Given the description of an element on the screen output the (x, y) to click on. 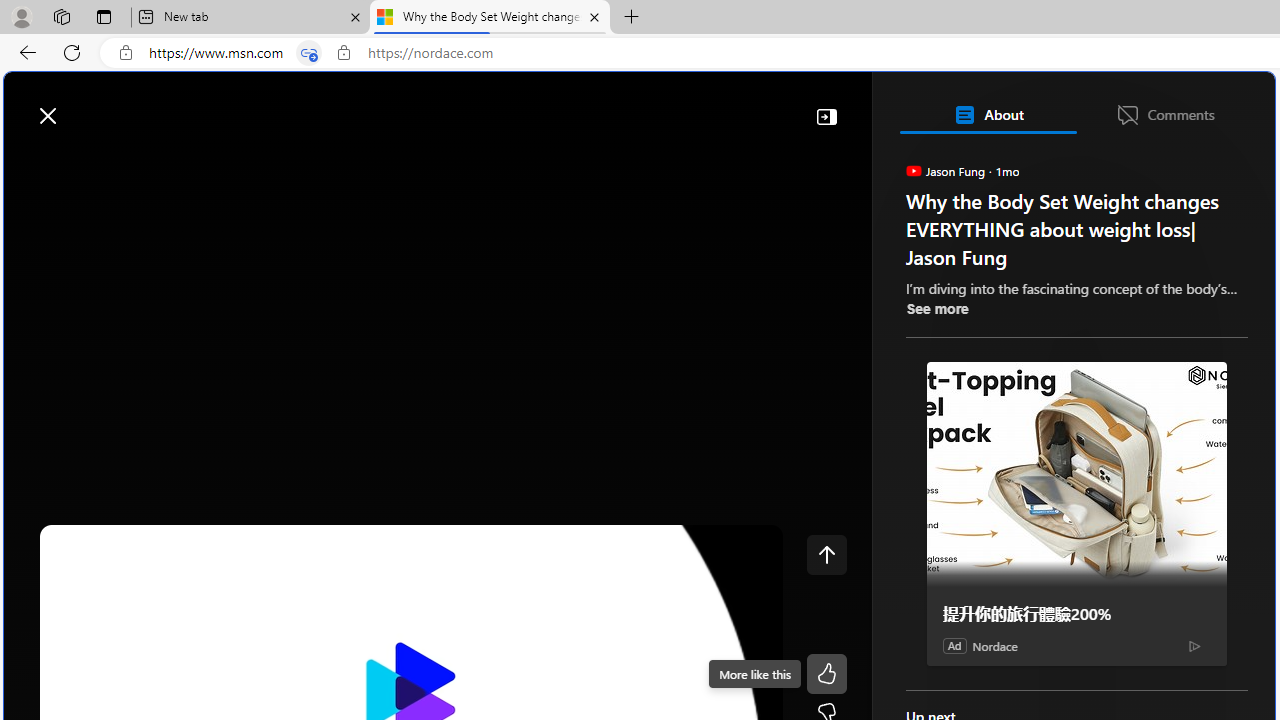
Jason Fung (912, 170)
Personal Profile (21, 16)
Discover (91, 162)
Workspaces (61, 16)
Skip to footer (82, 105)
Following (172, 162)
Open Copilot (995, 105)
About (987, 114)
Discover (84, 162)
ABC News (974, 557)
Tab actions menu (104, 16)
Microsoft Start (94, 105)
New Tab (632, 17)
Close tab (594, 16)
